Given the description of an element on the screen output the (x, y) to click on. 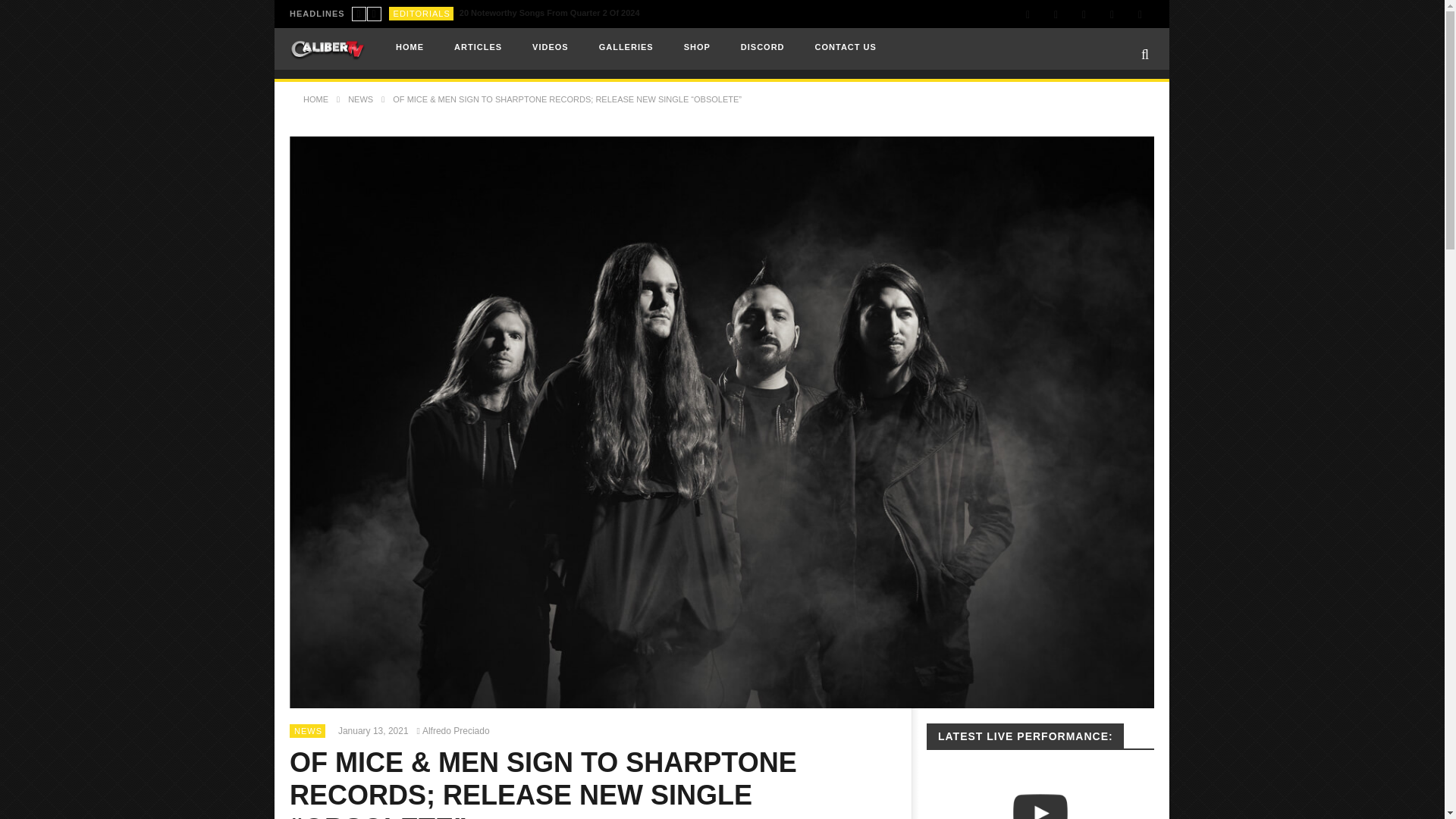
VIDEOS (549, 46)
HOME (315, 99)
GALLERIES (625, 46)
search (1129, 79)
View all posts in Editorials (421, 13)
DISCORD (762, 46)
20 Noteworthy Songs From Quarter 2 Of 2024 (550, 12)
EDITORIALS (421, 13)
ARTICLES (477, 46)
20 Noteworthy Songs From Quarter 2 Of 2024 (550, 12)
NEWS (307, 730)
YouTube (1056, 14)
NEWS (359, 99)
CONTACT US (845, 46)
SHOP (696, 46)
